Given the description of an element on the screen output the (x, y) to click on. 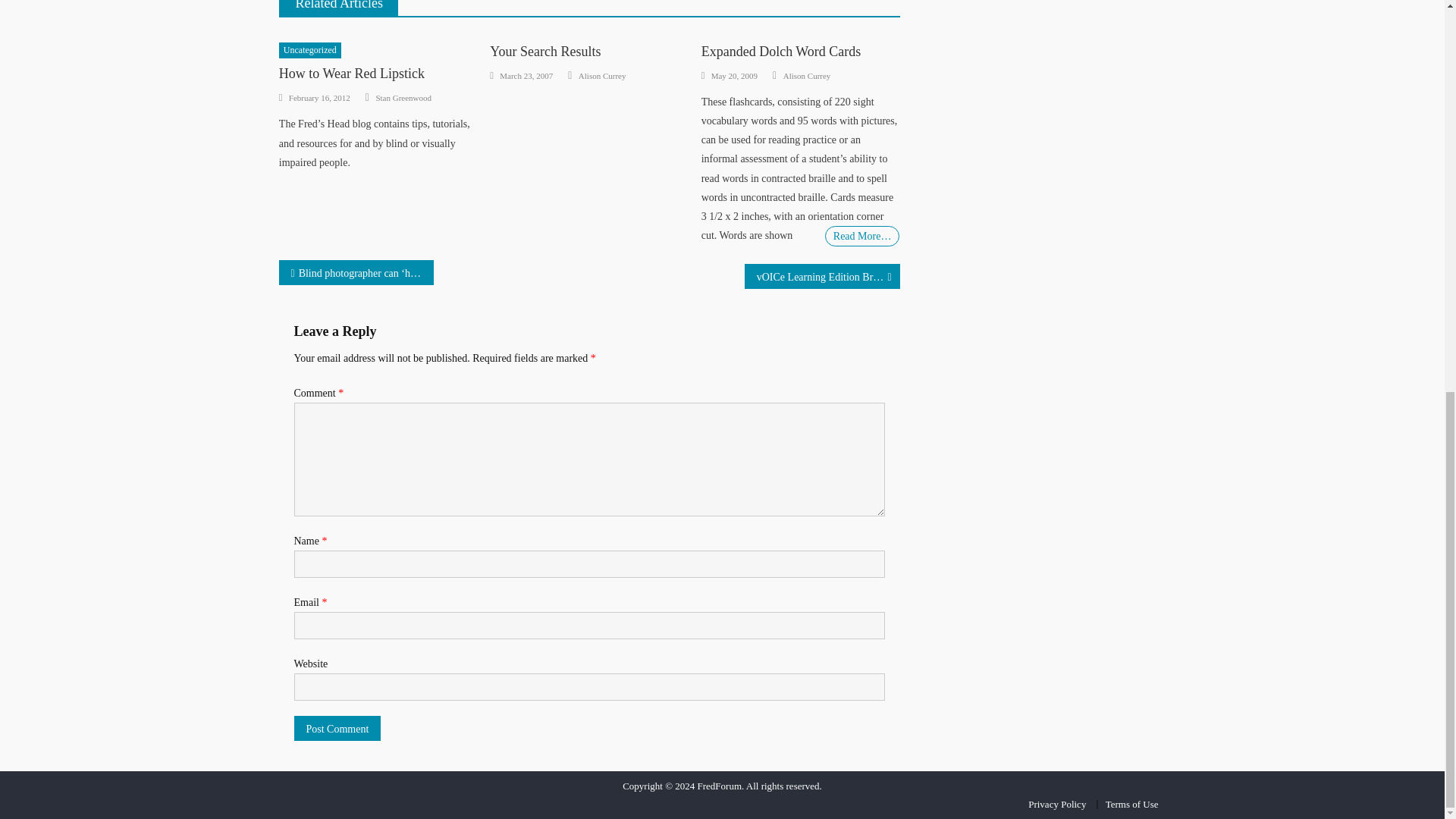
February 16, 2012 (319, 97)
How to Wear Red Lipstick (352, 73)
Uncategorized (309, 50)
Post Comment (337, 728)
FredForum (719, 785)
